Given the description of an element on the screen output the (x, y) to click on. 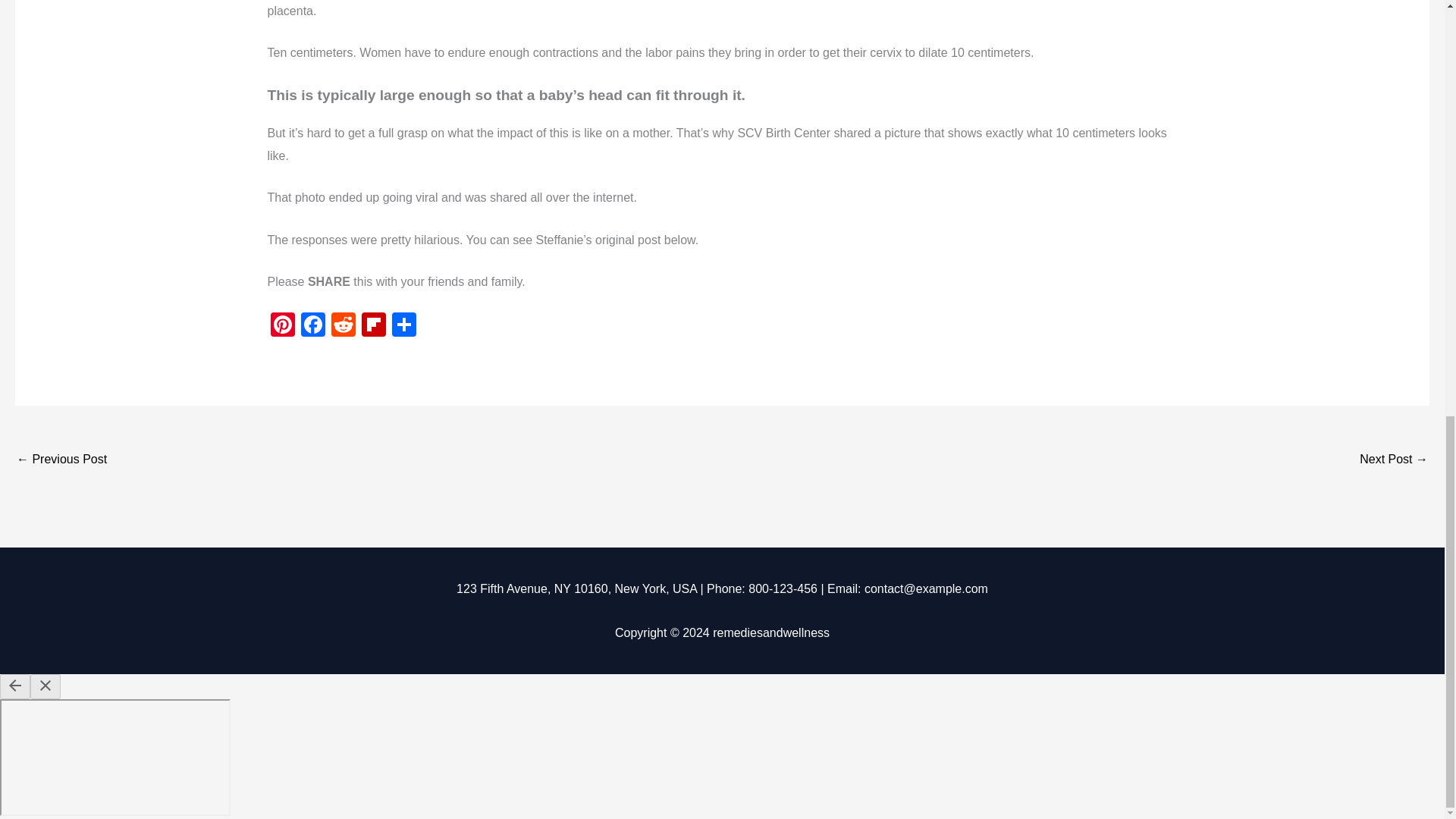
Reddit (342, 326)
Flipboard (373, 326)
Reddit (342, 326)
Pinterest (281, 326)
Facebook (312, 326)
Facebook (312, 326)
Make Your Hands Look 5 Years Younger !!! (61, 460)
Pinterest (281, 326)
Flipboard (373, 326)
